Given the description of an element on the screen output the (x, y) to click on. 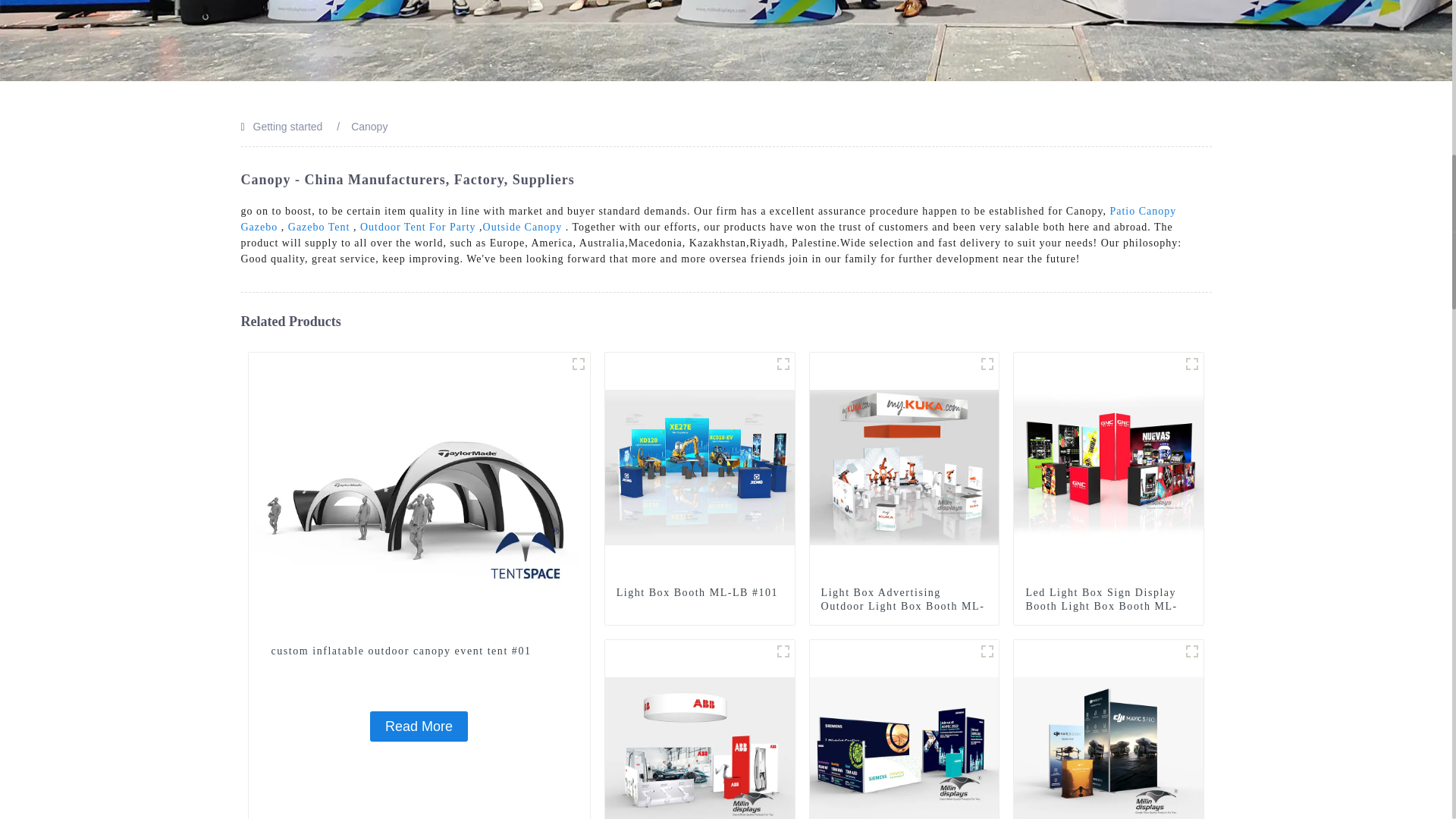
Gazebo Tent (319, 226)
Exterior Light Box (782, 363)
Patio Canopy Gazebo (708, 218)
Outside Canopy (522, 226)
Lighter Boxes (986, 363)
Gazebo Tent (319, 226)
Read More (418, 726)
Canopy (368, 126)
Outdoor Tent For Party (417, 226)
Outside Canopy (522, 226)
